Given the description of an element on the screen output the (x, y) to click on. 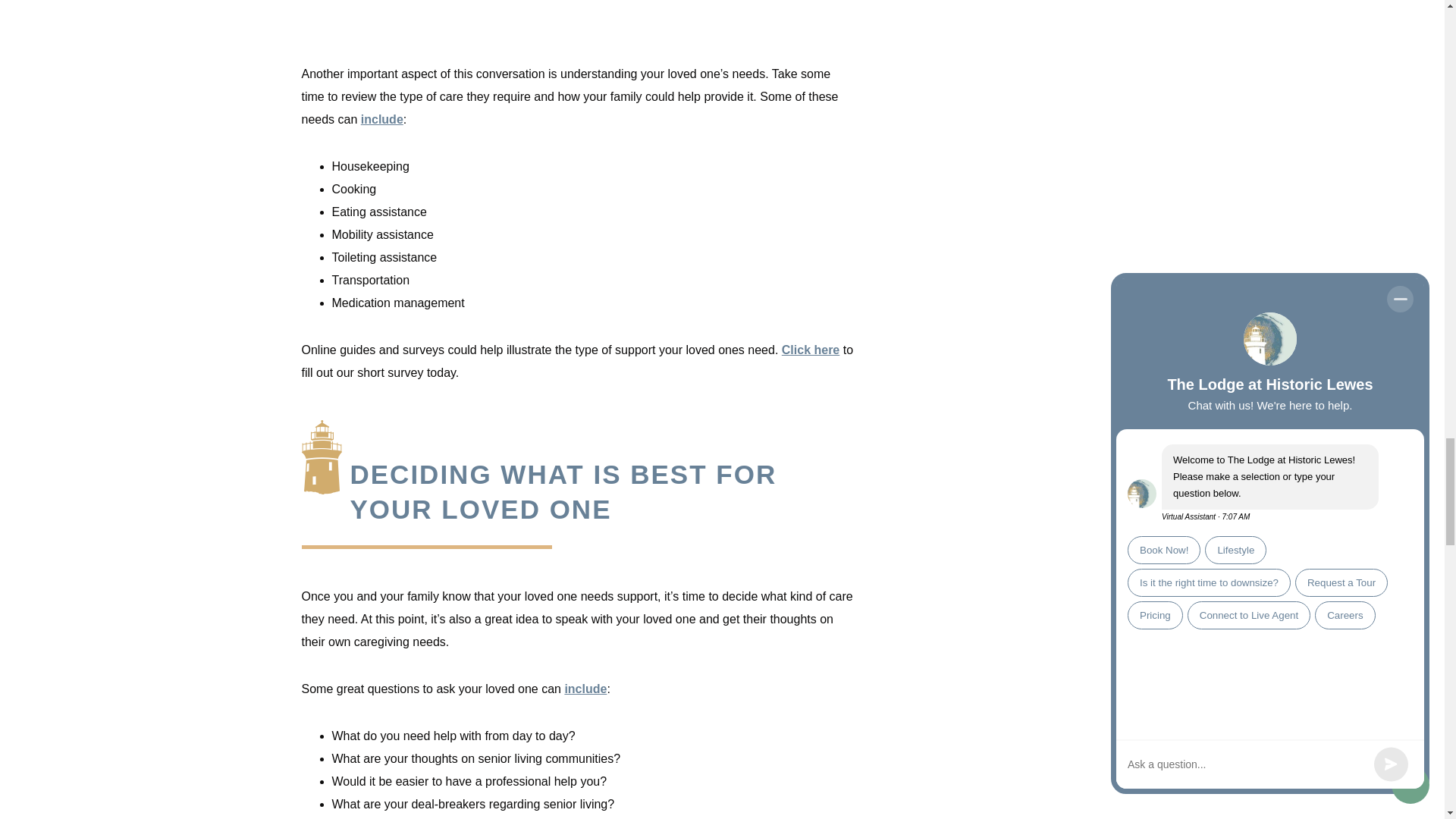
include (382, 119)
